Given the description of an element on the screen output the (x, y) to click on. 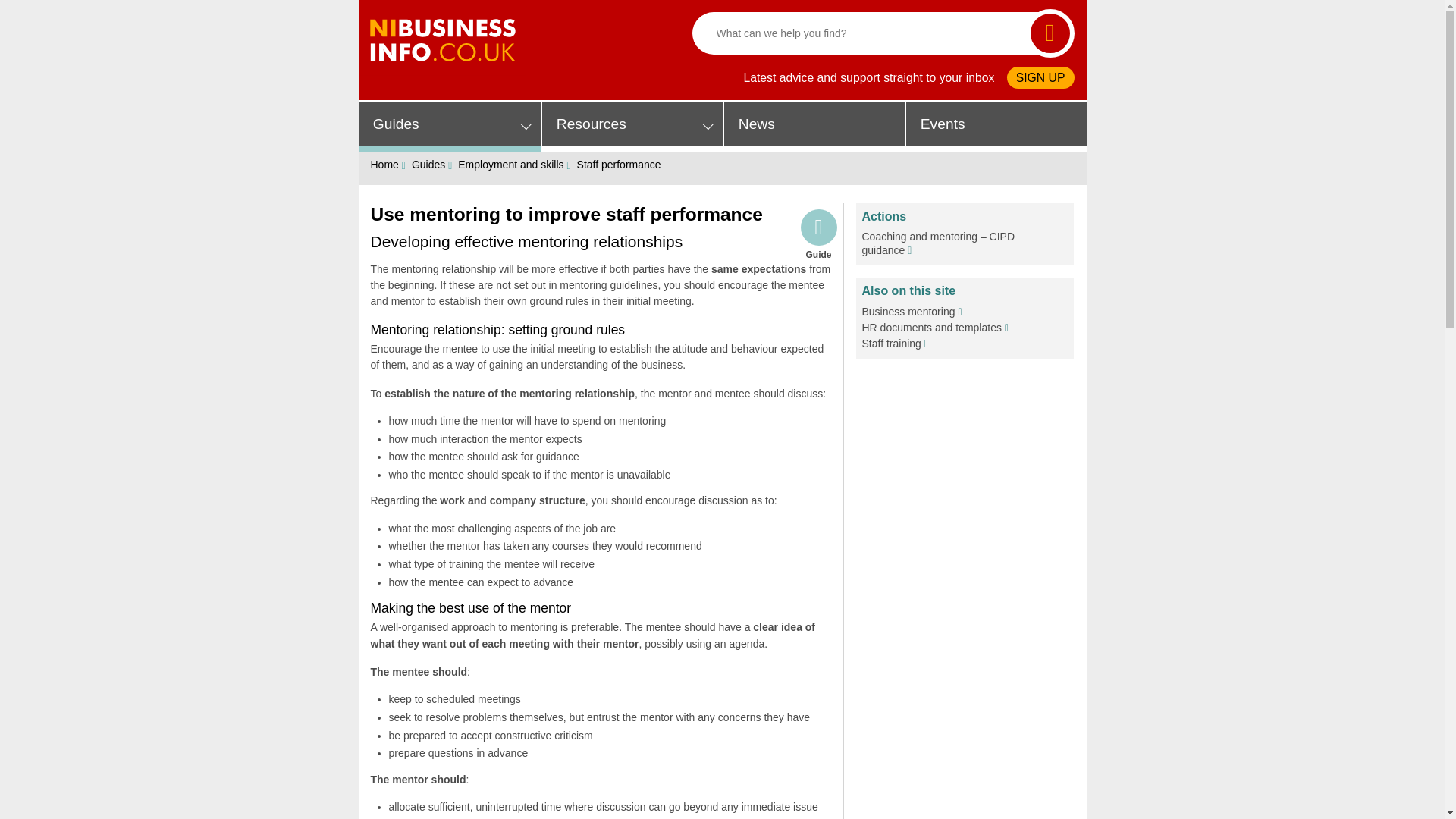
Resources (631, 126)
Guides (449, 126)
Search (1049, 33)
Events (995, 126)
News (813, 126)
Search (1049, 33)
SIGN UP (1040, 77)
